Given the description of an element on the screen output the (x, y) to click on. 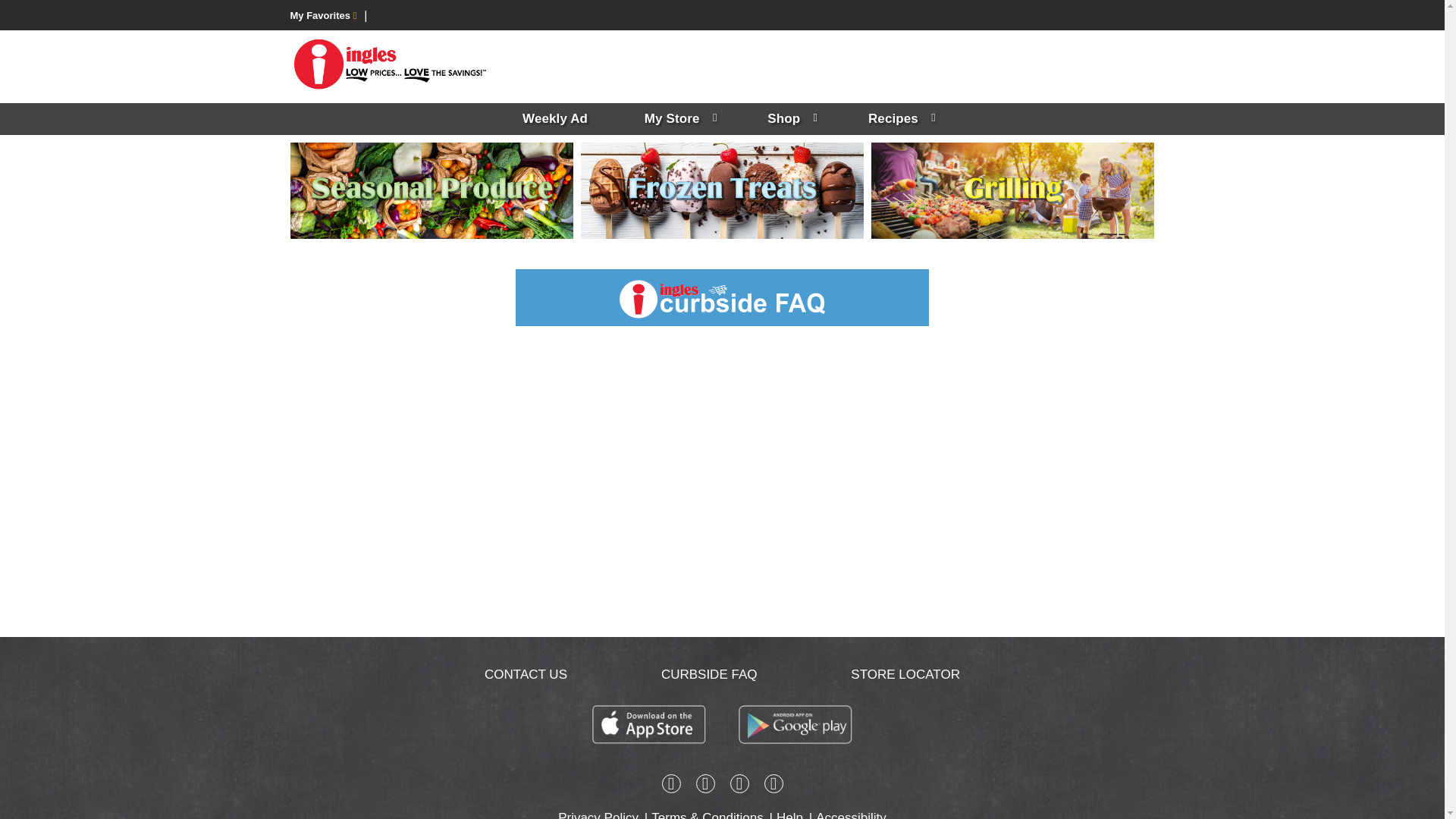
Recipes (898, 119)
My Favorites  (322, 15)
facebook (670, 785)
Grilling (1012, 190)
CURBSIDE FAQ (709, 674)
My Store (677, 119)
Frozen Treats (721, 190)
CONTACT US (525, 674)
twitter (738, 785)
Seasonal Produce (430, 190)
youtube (773, 785)
Weekly Ad (554, 119)
instagram (704, 785)
Shop (789, 119)
STORE LOCATOR (904, 674)
